Given the description of an element on the screen output the (x, y) to click on. 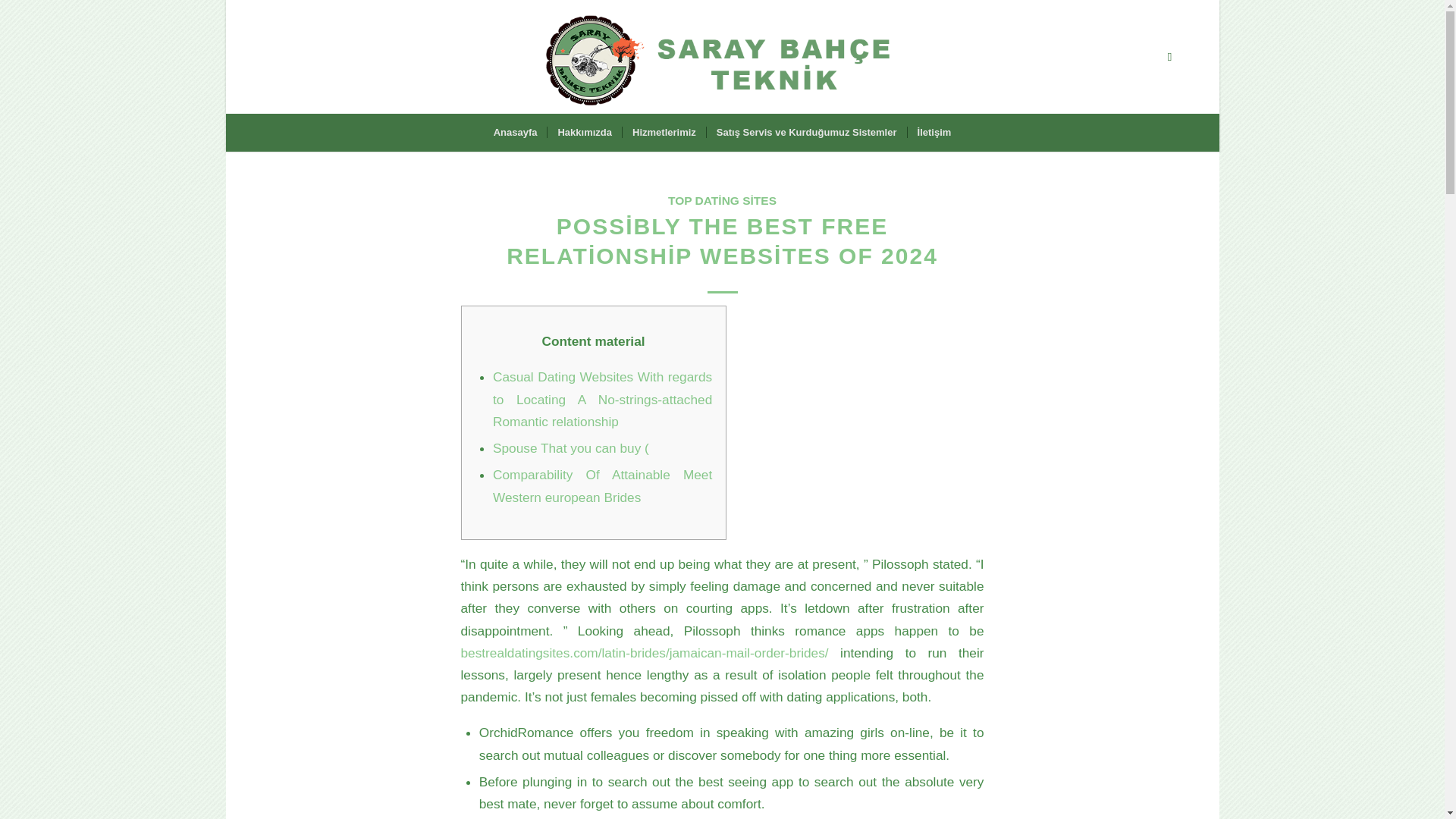
Anasayfa (515, 132)
Hizmetlerimiz (663, 132)
Comparability Of Attainable Meet Western european Brides (602, 485)
POSSIBLY THE BEST FREE RELATIONSHIP WEBSITES OF 2024 (721, 240)
TOP DATING SITES (722, 200)
